Given the description of an element on the screen output the (x, y) to click on. 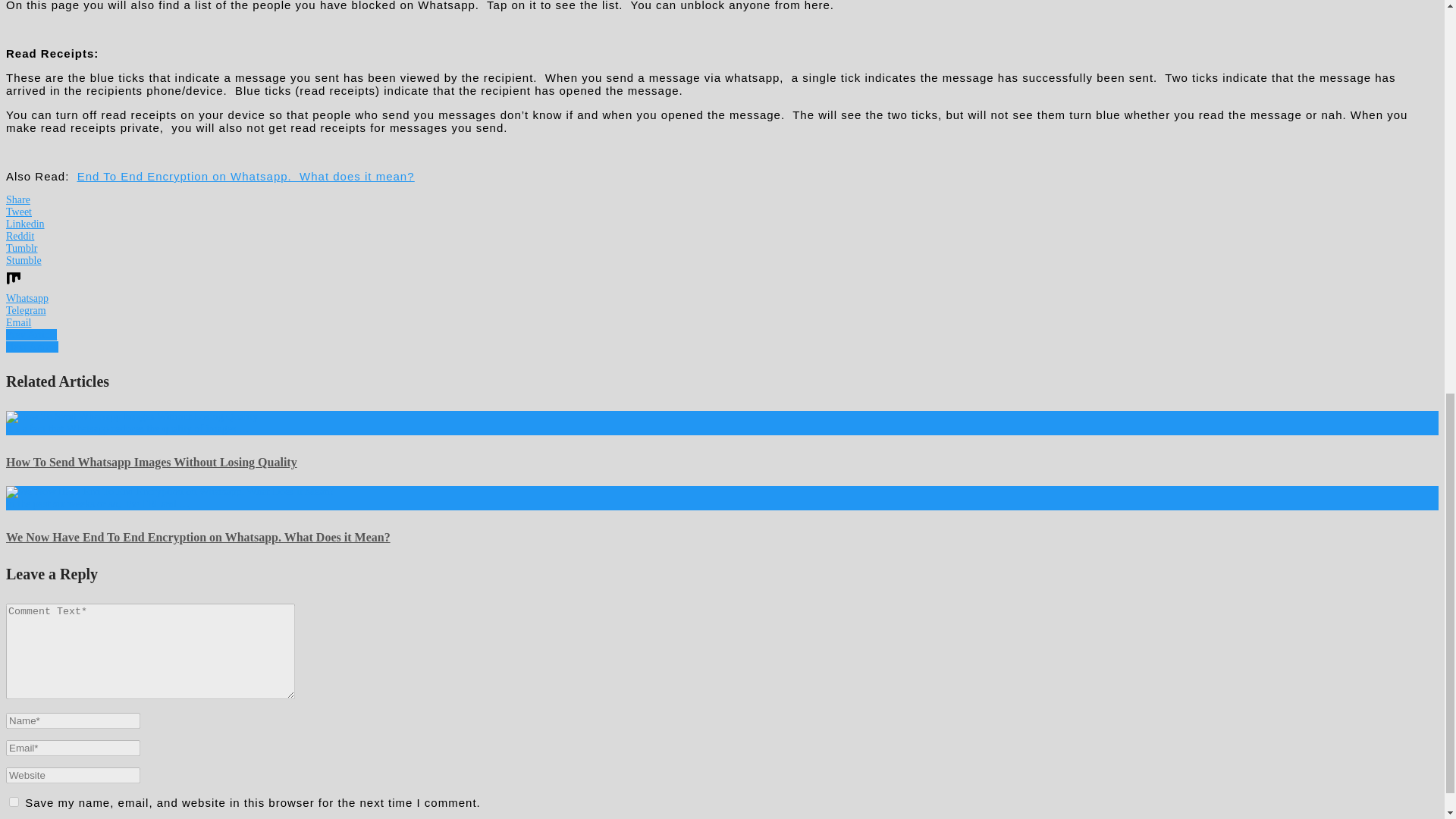
yes (13, 801)
How To Send Whatsapp Images Without Losing Quality (151, 461)
How To Send Whatsapp Images Without Losing Quality (131, 417)
End To End Encryption on Whatsapp.  What does it mean? (245, 175)
Prev Article (30, 334)
Next Article (31, 346)
How To Send Whatsapp Images Without Losing Quality (151, 461)
